Given the description of an element on the screen output the (x, y) to click on. 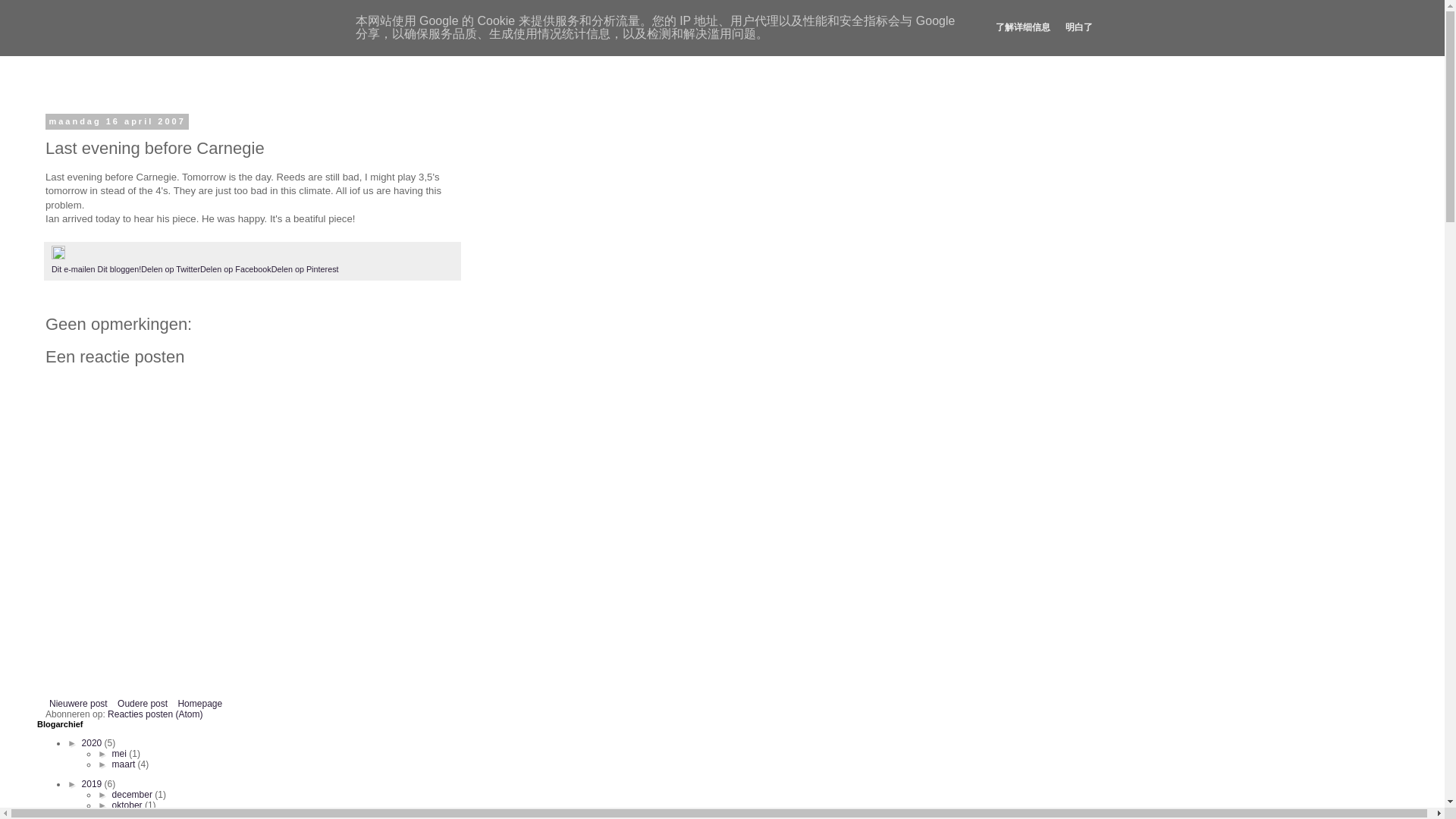
2020 (73, 268)
mei (92, 742)
Delen op Facebook (120, 753)
augustus (235, 268)
Homepage (131, 814)
Nieuwere post (199, 703)
Oudere post (78, 703)
oktober (142, 703)
december (128, 805)
Oudere post (133, 794)
maart (142, 703)
Delen op Twitter (125, 764)
Delen op Pinterest (170, 268)
Delen op Twitter (304, 268)
